Given the description of an element on the screen output the (x, y) to click on. 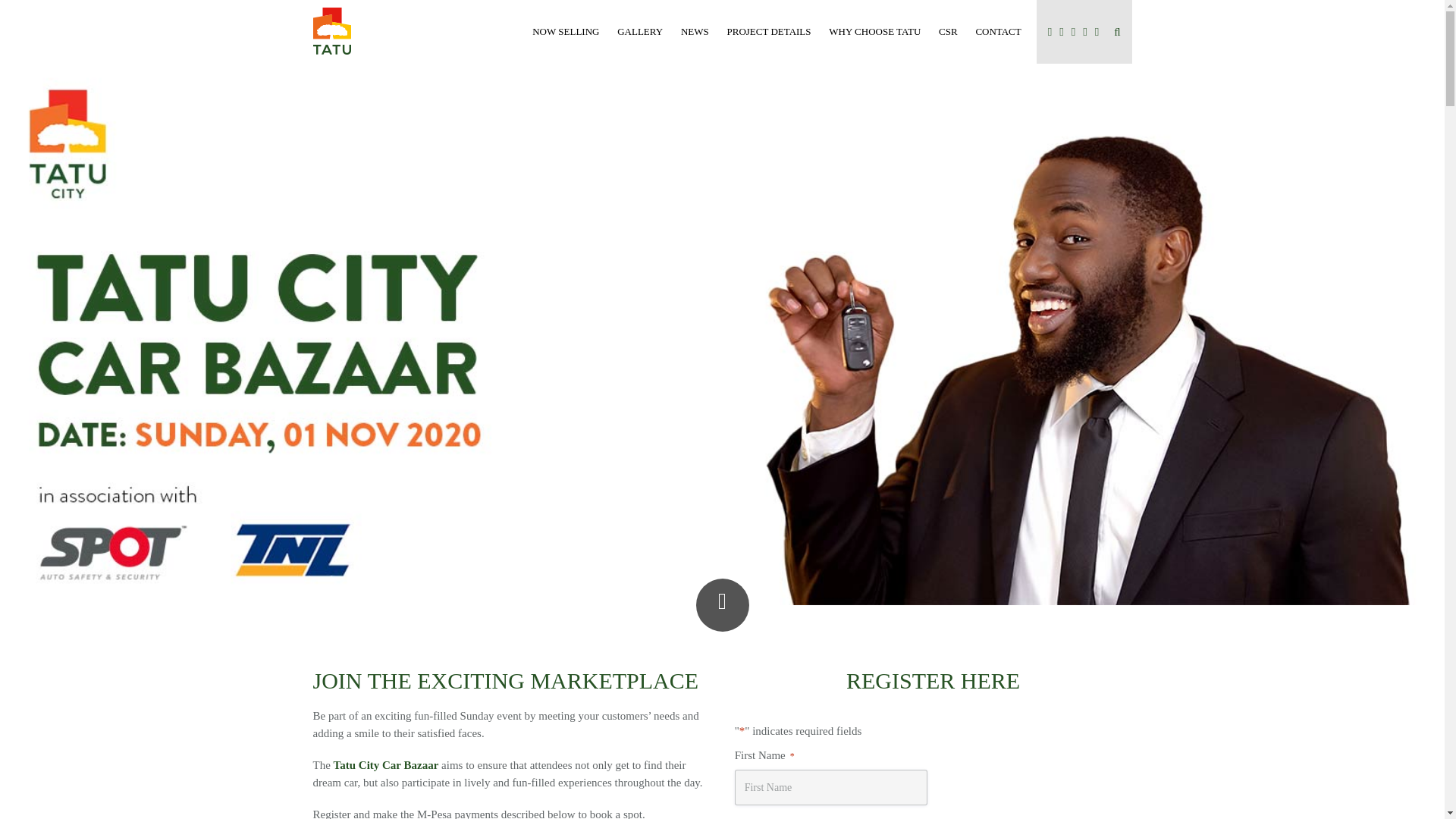
PROJECT DETAILS (768, 35)
WHY CHOOSE TATU (874, 35)
GALLERY (639, 35)
Tatu City, Live, Work And Play (336, 30)
NOW SELLING (565, 35)
CONTACT (997, 35)
